Given the description of an element on the screen output the (x, y) to click on. 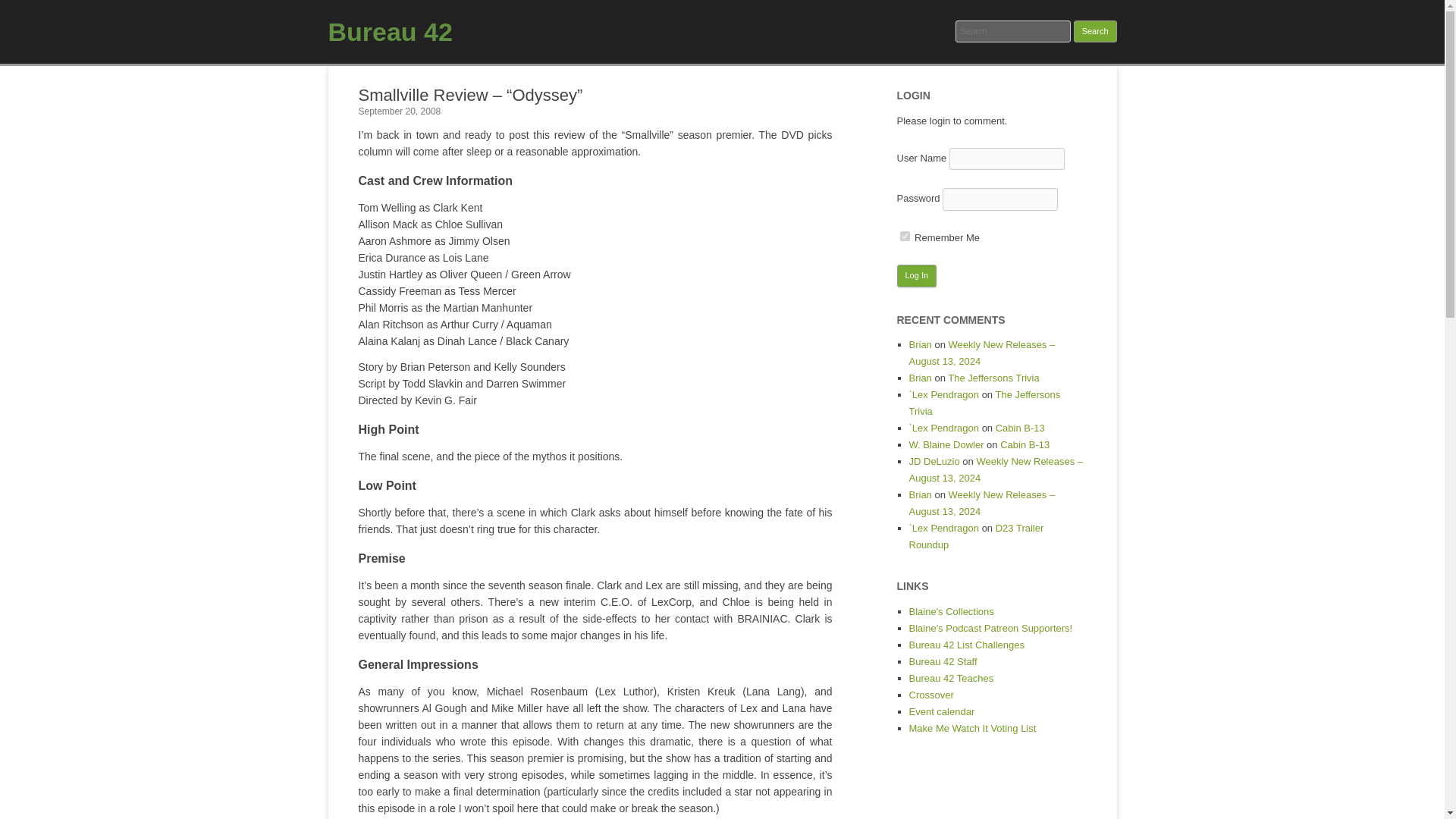
The Jeffersons Trivia (993, 378)
The home of our new annual list challenges. (966, 644)
JD DeLuzio (933, 460)
The Jeffersons Trivia (983, 402)
Search (1095, 31)
Crossover (930, 695)
Search (1095, 31)
September 20, 2008 (399, 111)
